Given the description of an element on the screen output the (x, y) to click on. 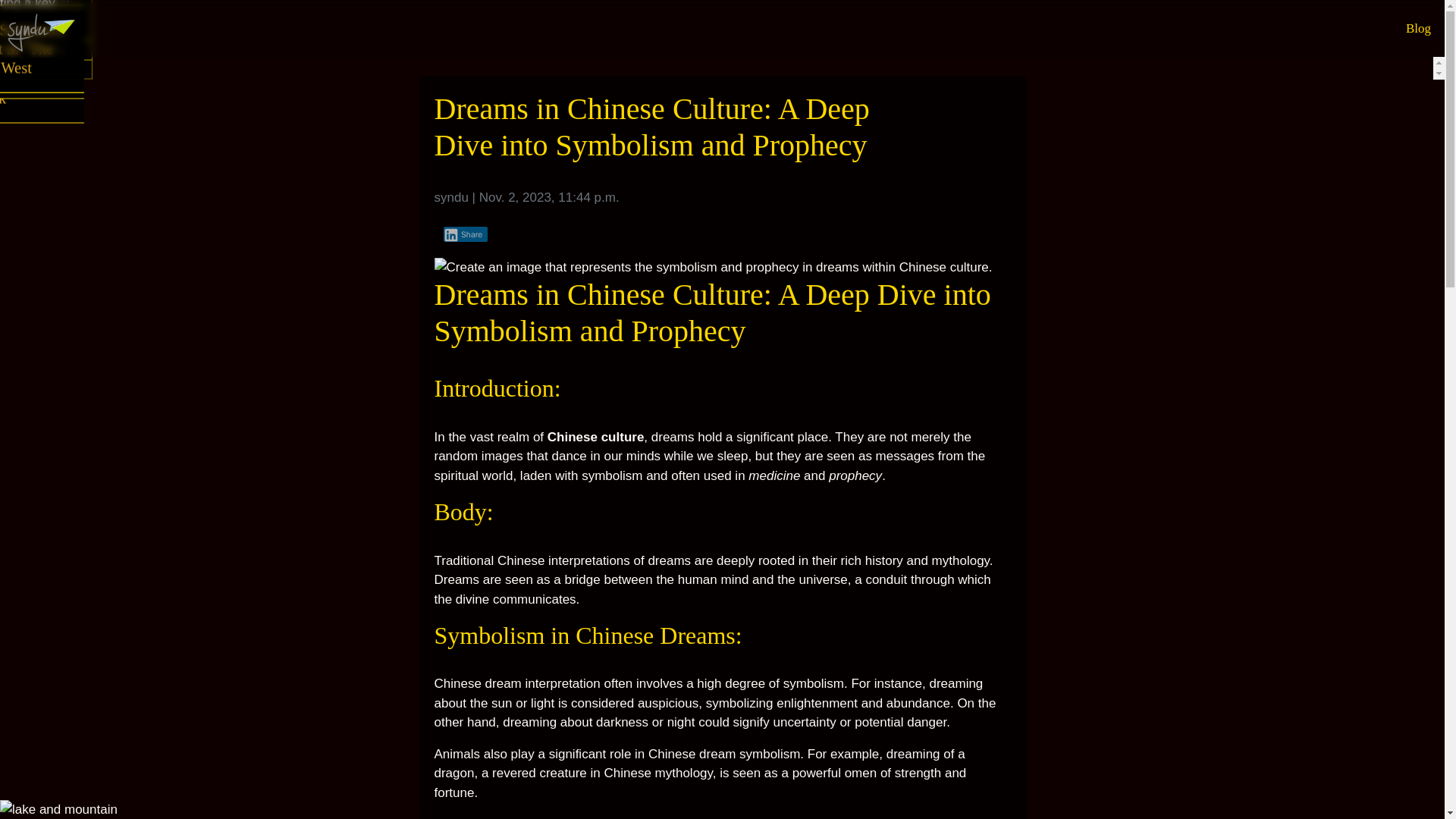
Share (464, 233)
Advancing Natural Language Processing for AI's Understanding (42, 69)
Blog (1418, 29)
The Journey to the West: A Content Series (42, 52)
